Given the description of an element on the screen output the (x, y) to click on. 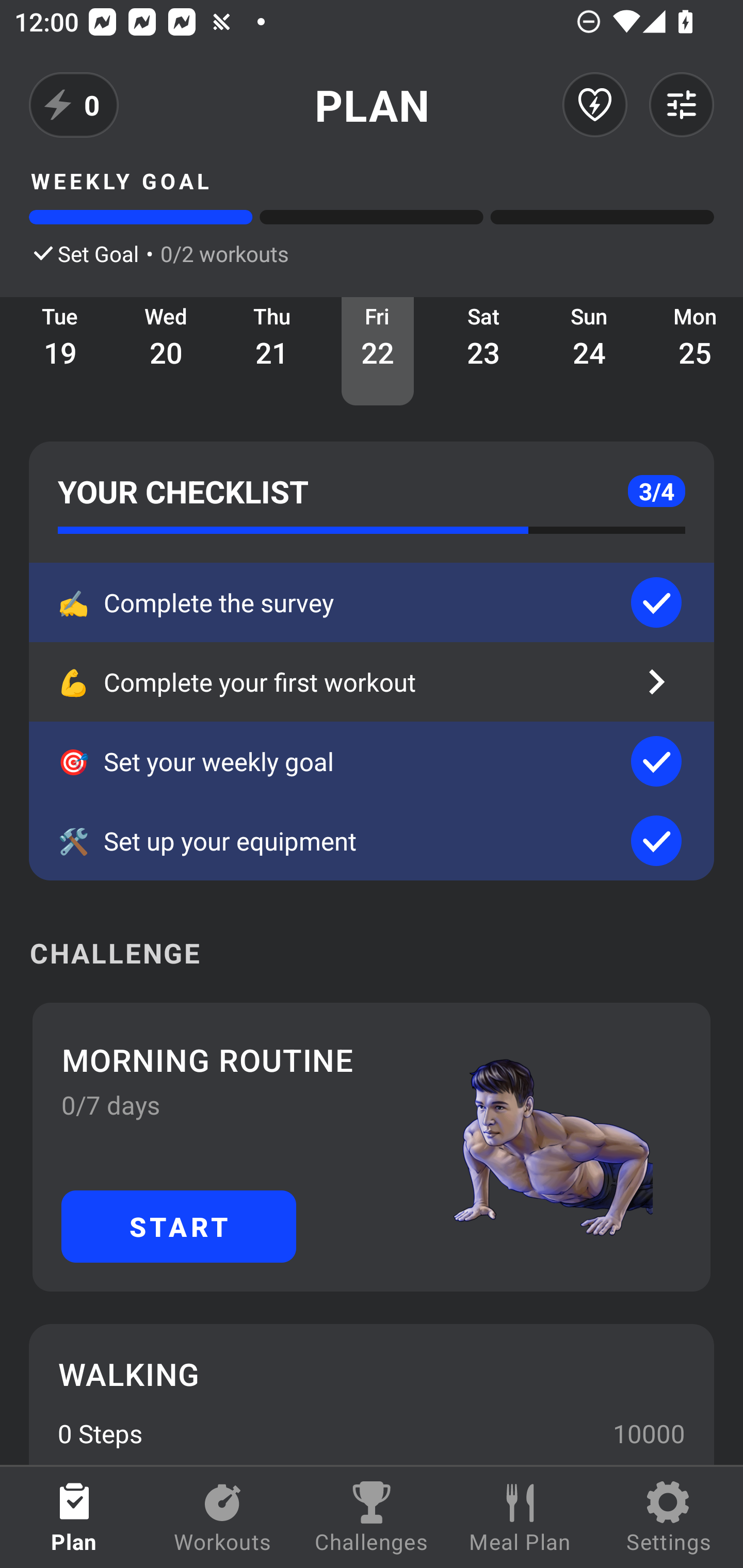
0 (73, 104)
Tue 19 (60, 351)
Wed 20 (166, 351)
Thu 21 (272, 351)
Fri 22 (377, 351)
Sat 23 (483, 351)
Sun 24 (589, 351)
Mon 25 (692, 351)
💪 Complete your first workout (371, 681)
MORNING ROUTINE 0/7 days START (371, 1146)
START (178, 1226)
WALKING 0 Steps 10000 (371, 1393)
 Workouts  (222, 1517)
 Challenges  (371, 1517)
 Meal Plan  (519, 1517)
 Settings  (668, 1517)
